Given the description of an element on the screen output the (x, y) to click on. 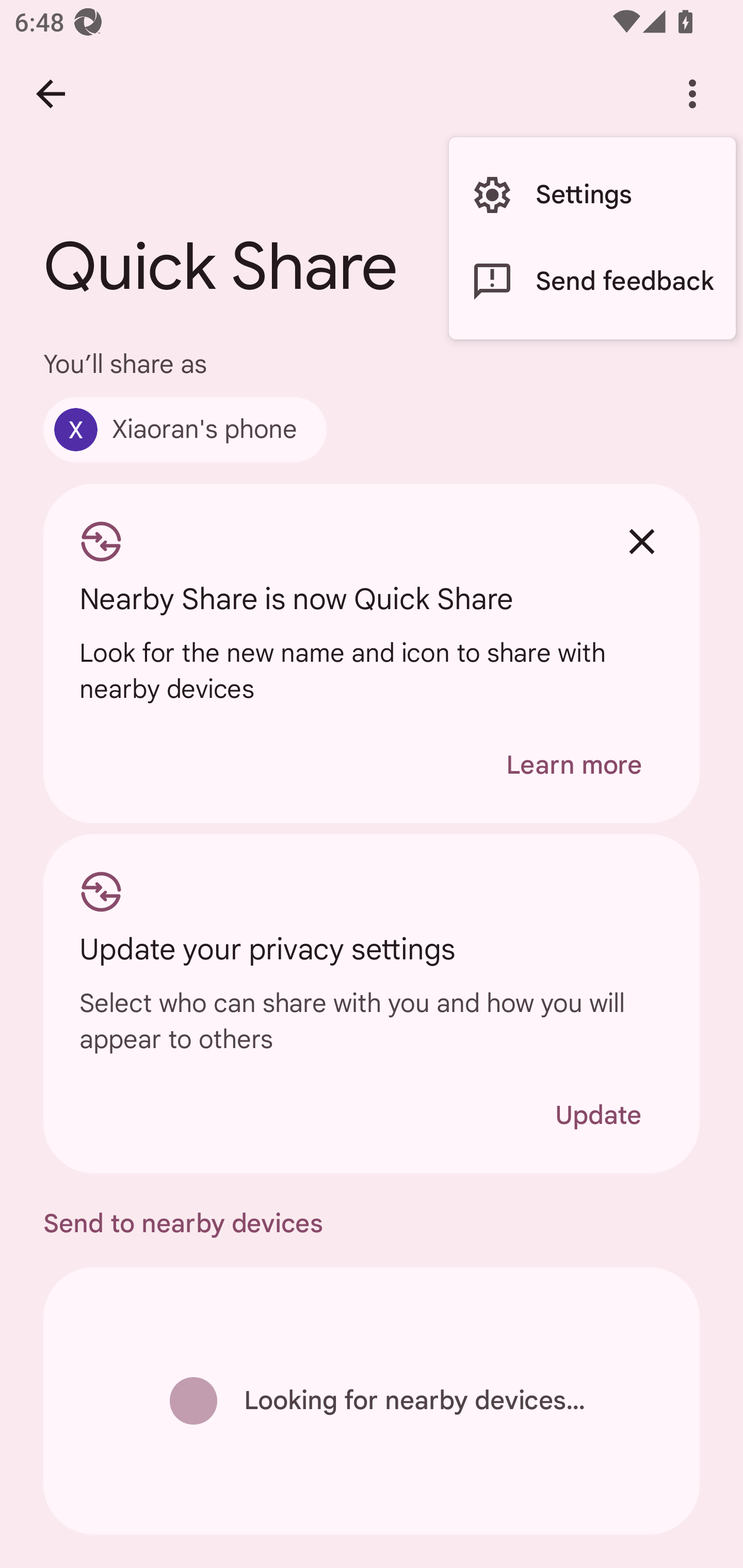
Settings (591, 195)
Send feedback (591, 281)
